Given the description of an element on the screen output the (x, y) to click on. 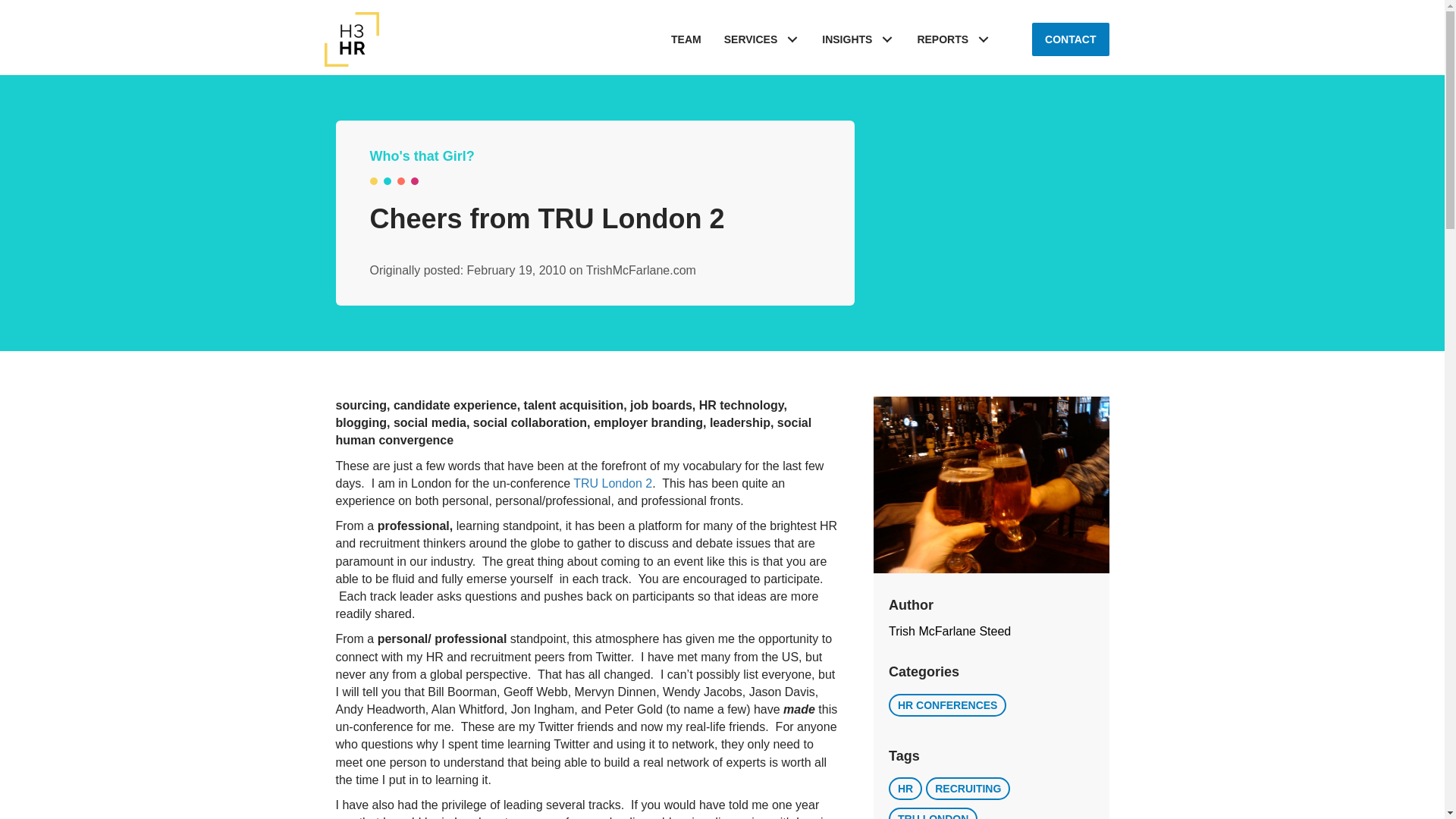
REPORTS (953, 39)
RECRUITING (968, 788)
SERVICES (761, 39)
Cheers London (991, 484)
HR (904, 788)
TRU LONDON (932, 813)
HR CONFERENCES (947, 703)
CONTACT (1070, 39)
INSIGHTS (857, 39)
TEAM (686, 39)
TRU London 2 (612, 482)
